Given the description of an element on the screen output the (x, y) to click on. 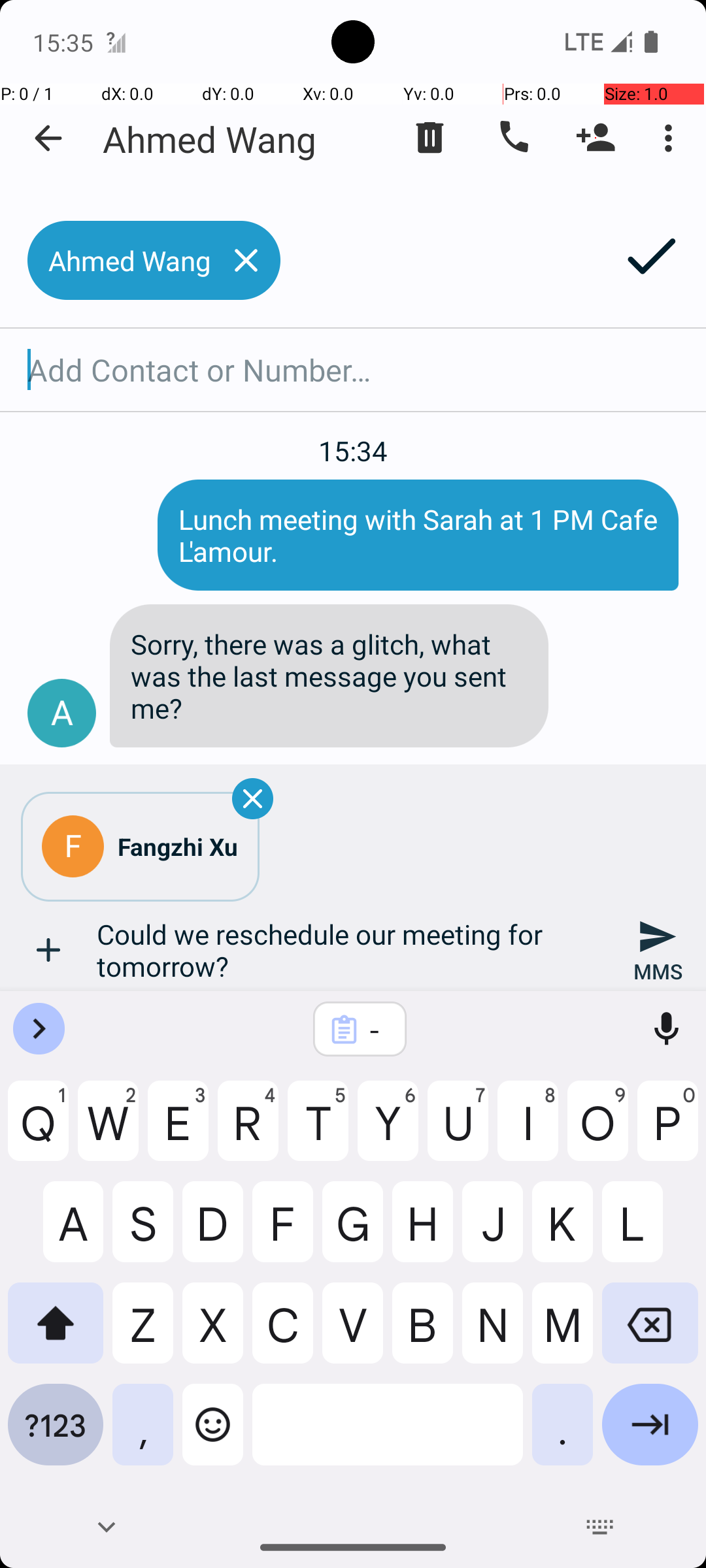
Could we reschedule our meeting for tomorrow? Element type: android.widget.EditText (352, 949)
MMS Element type: android.widget.Button (657, 949)
Lunch meeting with Sarah at 1 PM Cafe L'amour. Element type: android.widget.TextView (417, 534)
